Given the description of an element on the screen output the (x, y) to click on. 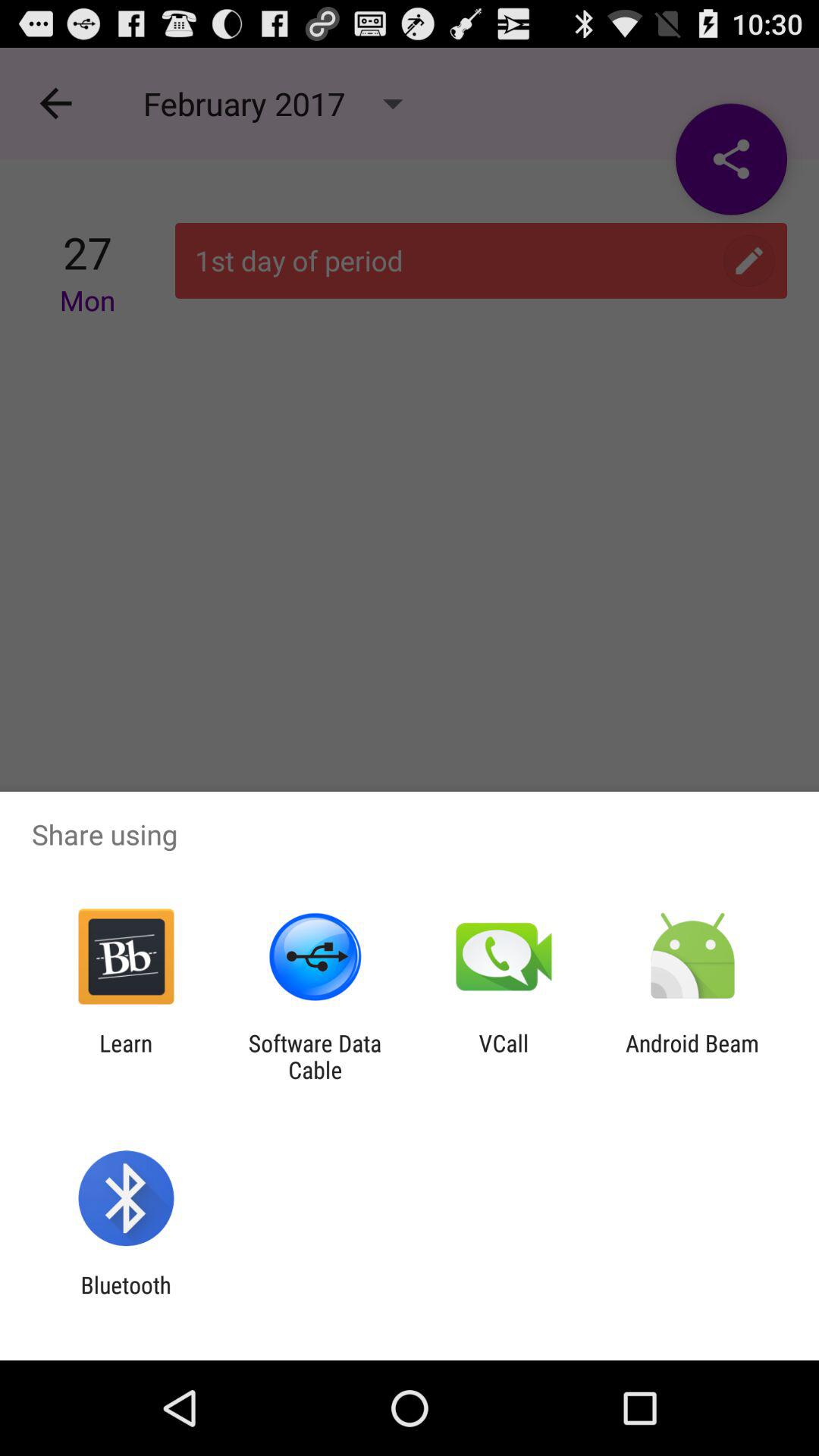
turn off the vcall (503, 1056)
